Given the description of an element on the screen output the (x, y) to click on. 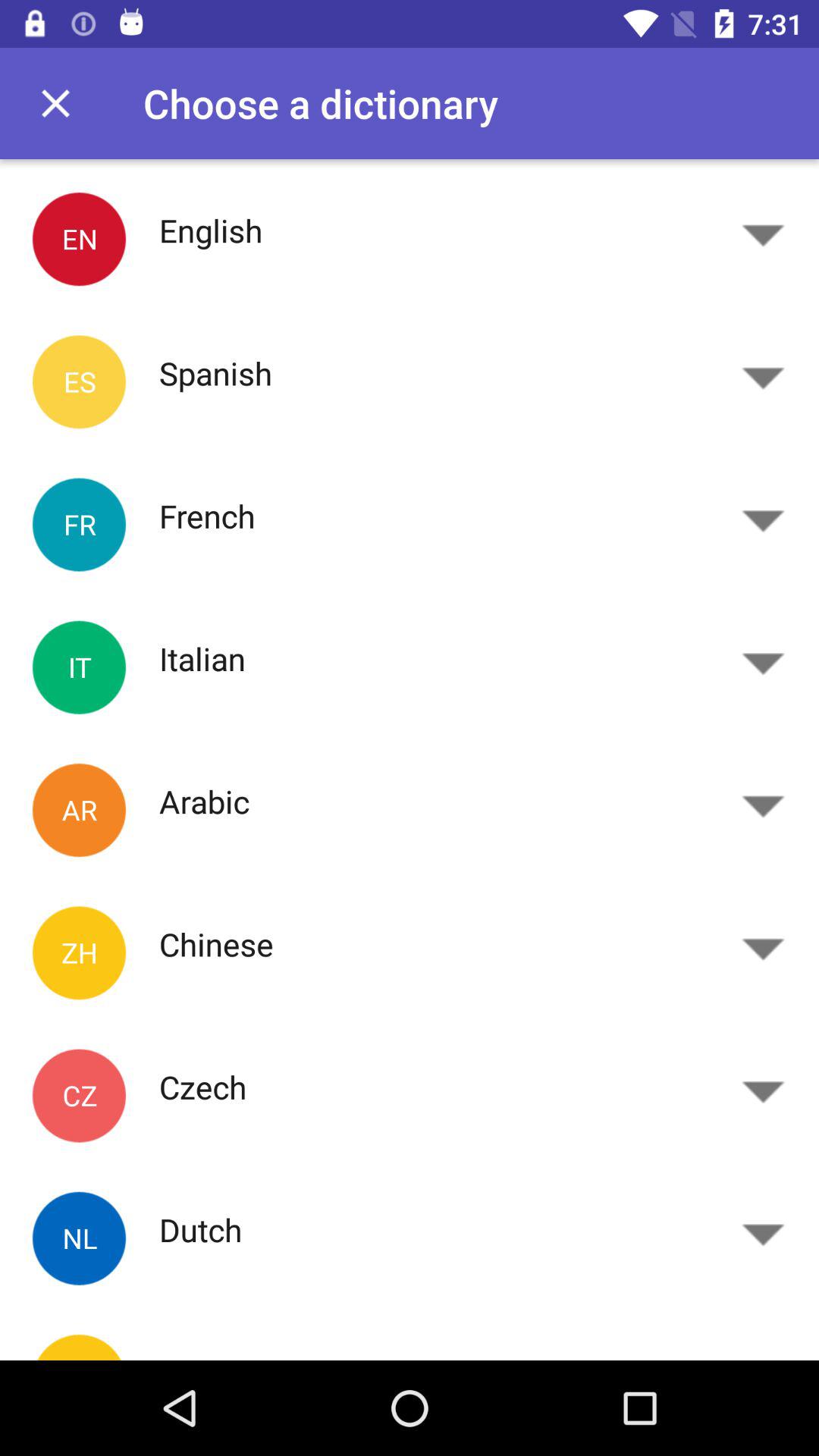
click on 7th arrow which is in the right side of the text italian (763, 1088)
